Given the description of an element on the screen output the (x, y) to click on. 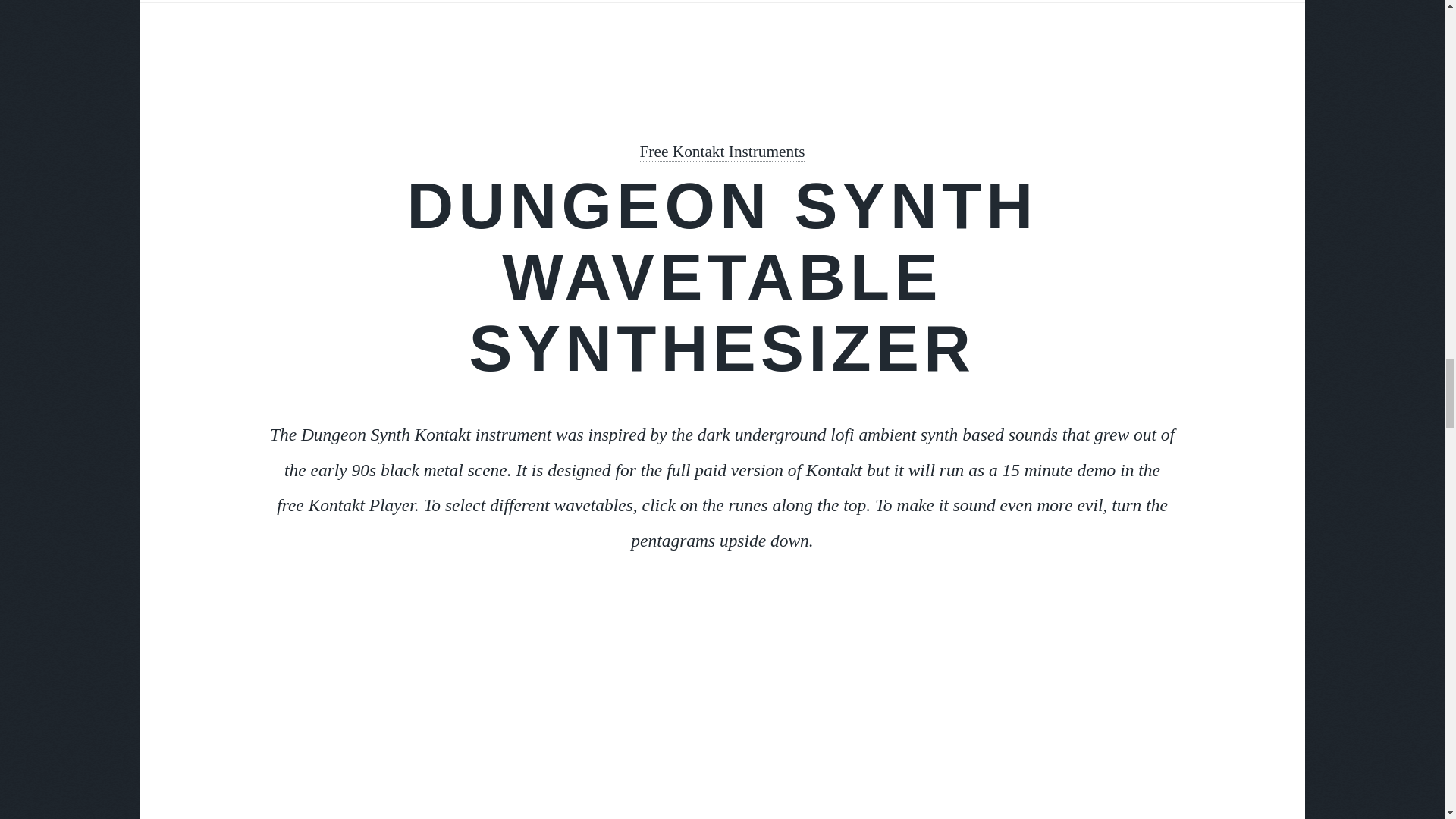
Free Kontakt Instruments (722, 151)
